Given the description of an element on the screen output the (x, y) to click on. 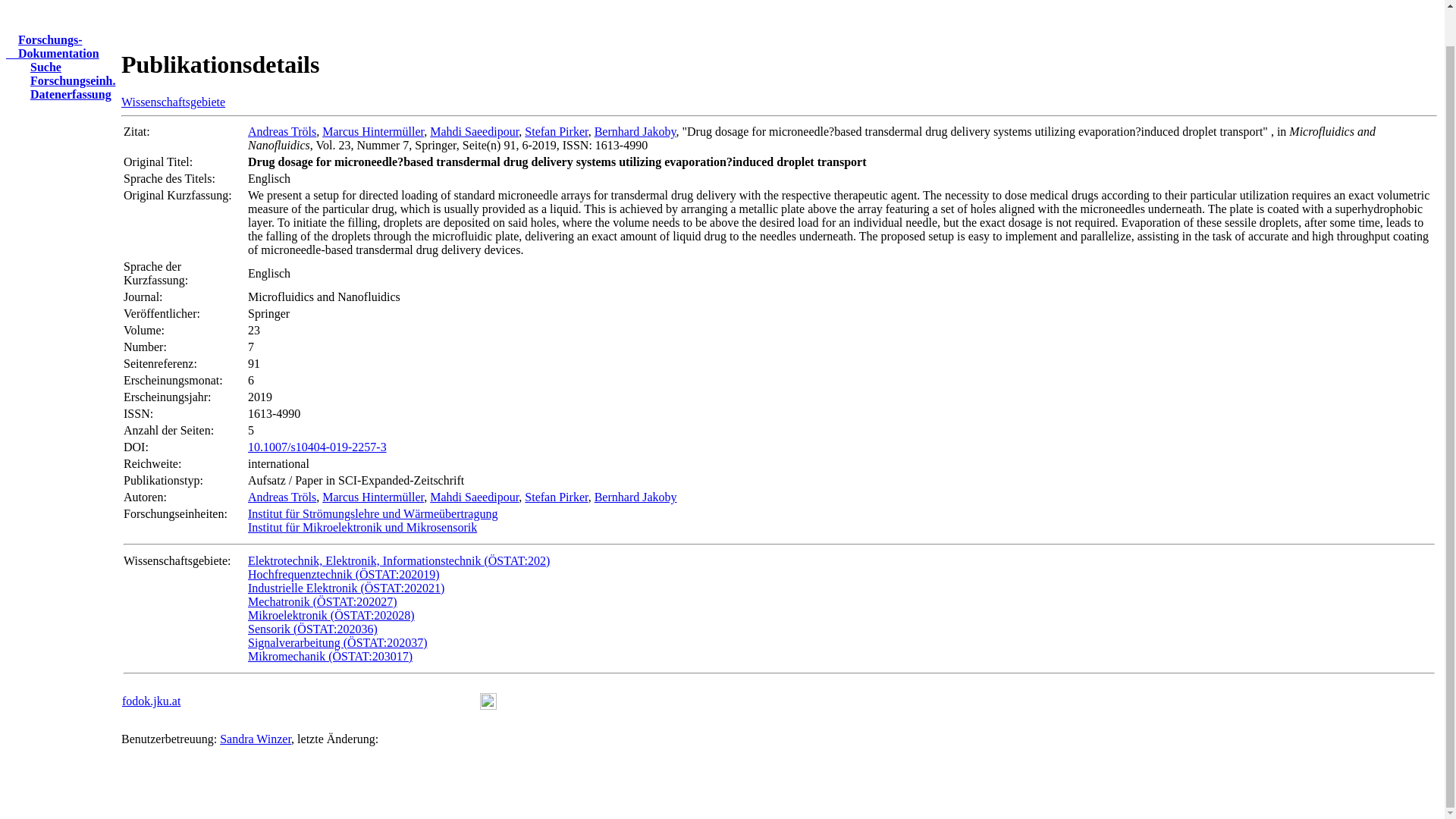
Wissenschaftsgebiete: (177, 560)
Bernhard Jakoby (635, 496)
Mahdi Saeedipour (473, 496)
Stefan Pirker (556, 496)
Bernhard Jakoby (635, 131)
Sandra Winzer (255, 738)
Forschungseinh. (66, 80)
fodok.jku.at (52, 46)
Suche (151, 700)
